Given the description of an element on the screen output the (x, y) to click on. 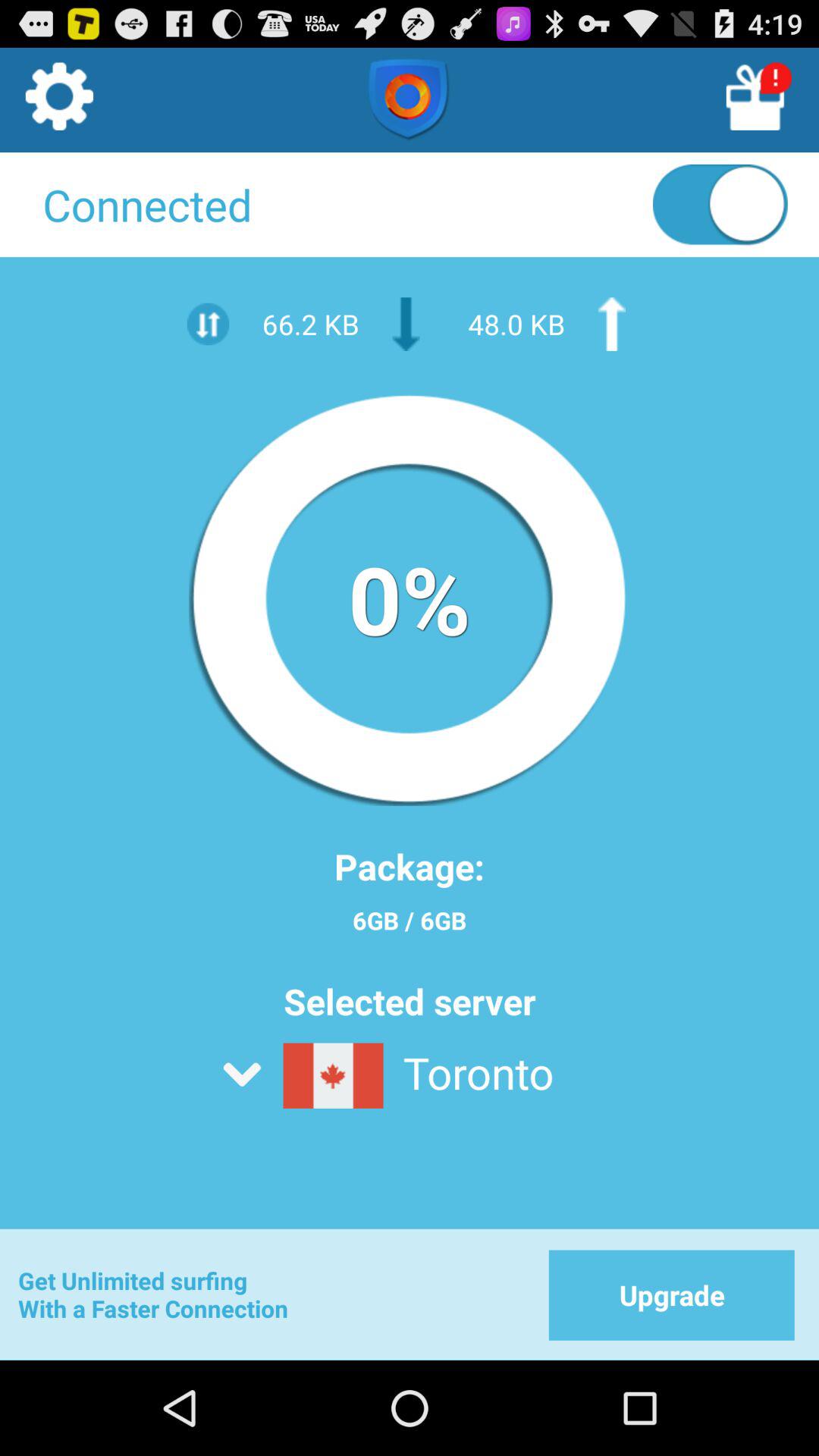
settings (57, 100)
